Given the description of an element on the screen output the (x, y) to click on. 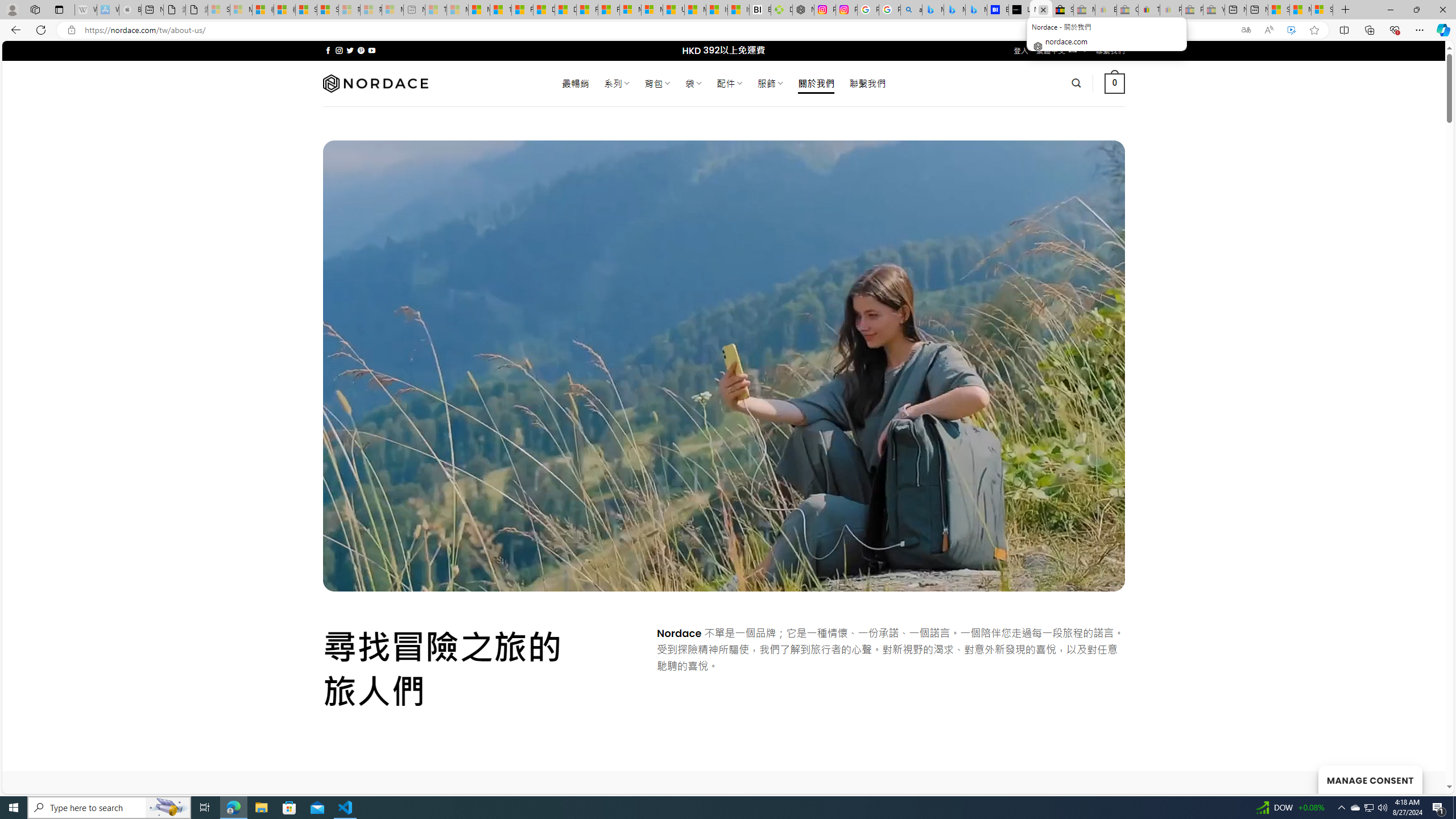
US Heat Deaths Soared To Record High Last Year (673, 9)
Microsoft Bing Travel - Shangri-La Hotel Bangkok (975, 9)
MANAGE CONSENT (1369, 779)
Descarga Driver Updater (781, 9)
Yard, Garden & Outdoor Living - Sleeping (1214, 9)
